Given the description of an element on the screen output the (x, y) to click on. 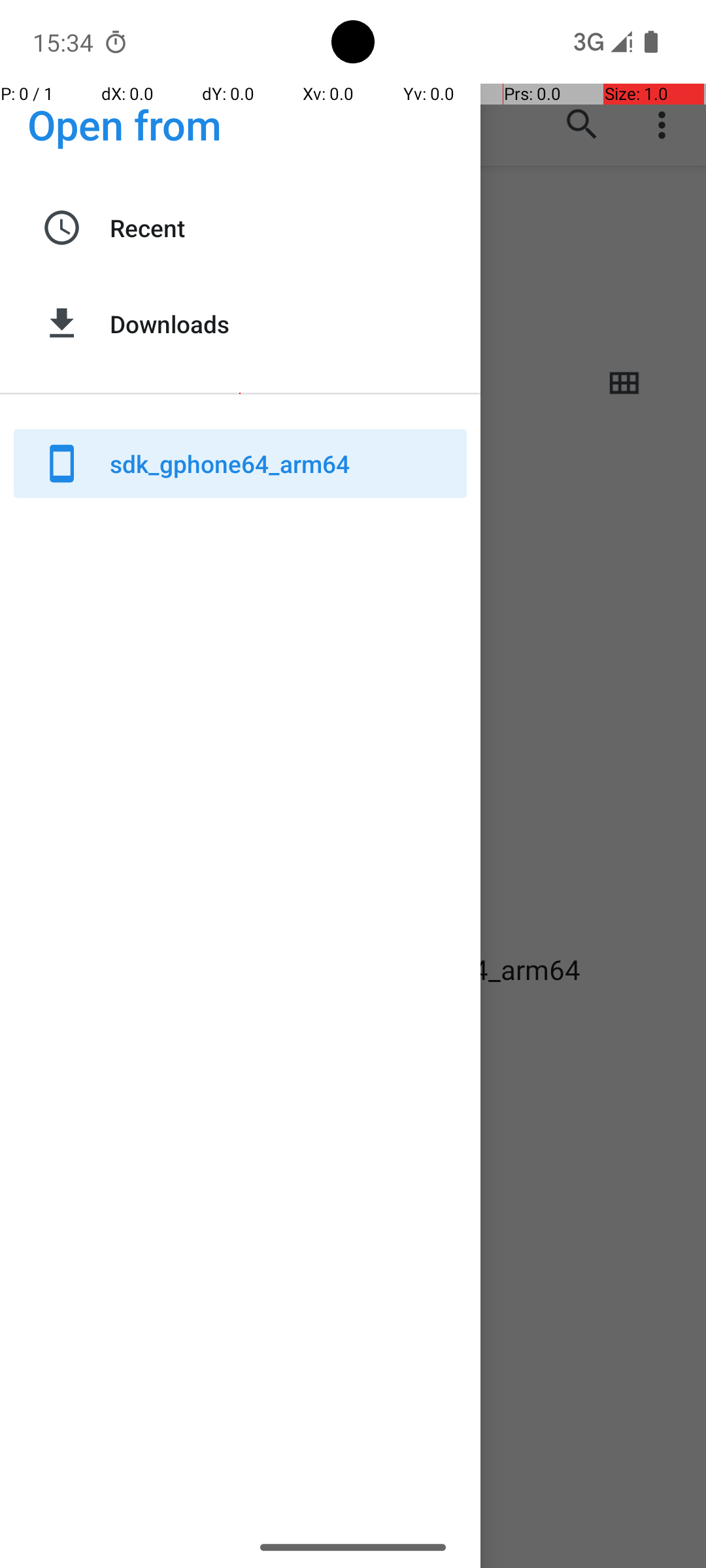
Open from Element type: android.widget.TextView (124, 124)
